Given the description of an element on the screen output the (x, y) to click on. 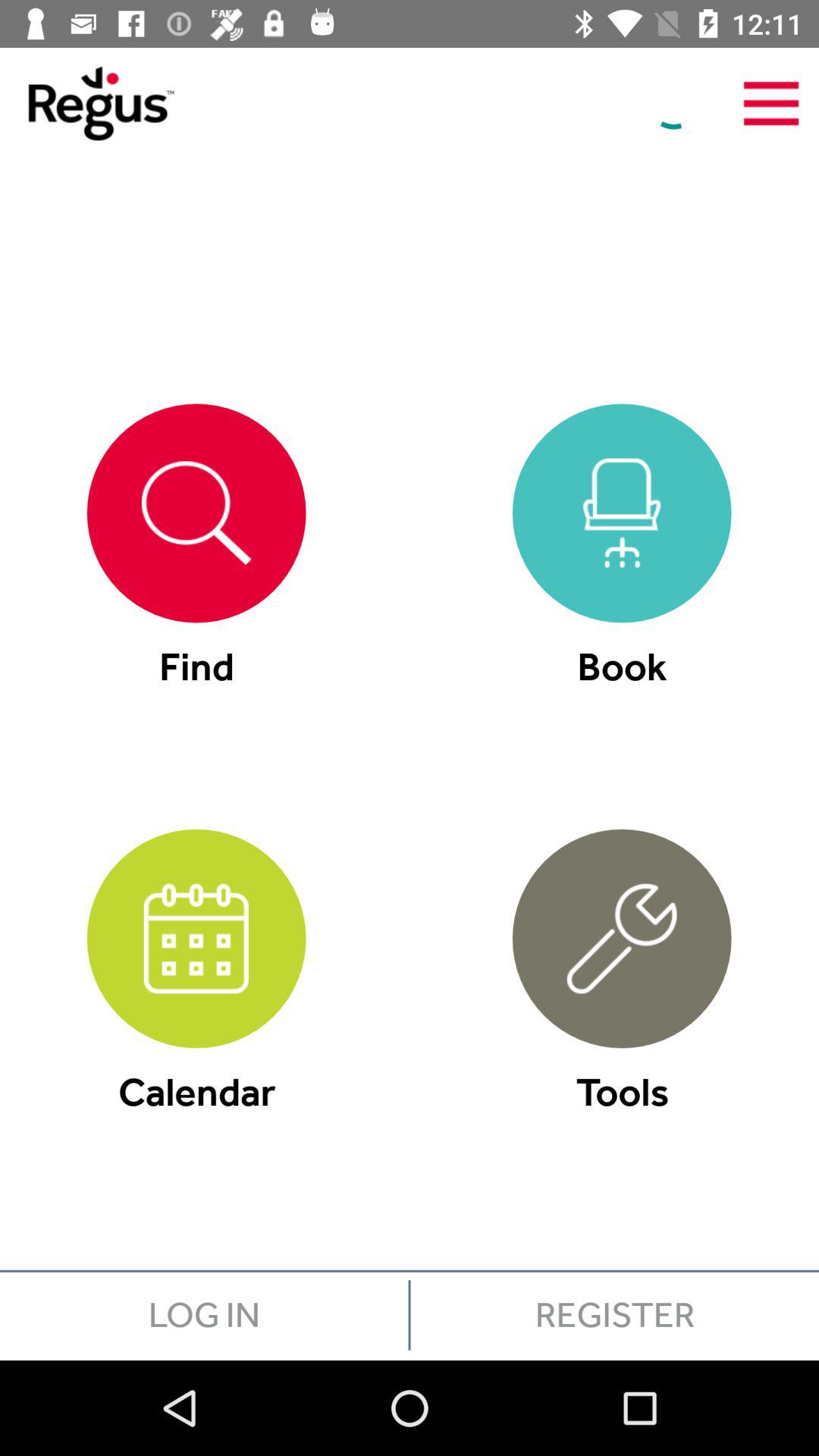
turn off register icon (614, 1314)
